Given the description of an element on the screen output the (x, y) to click on. 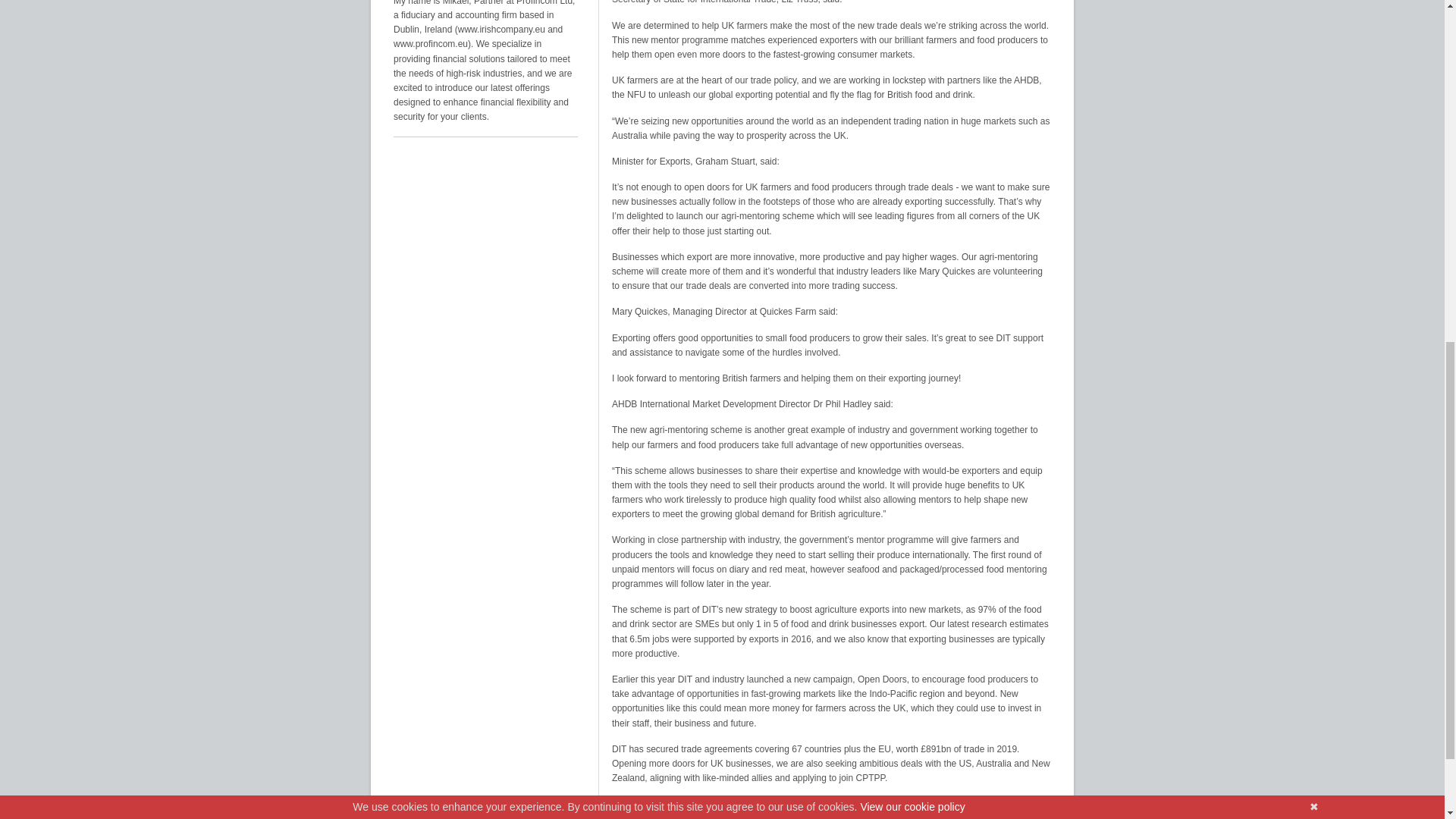
View our cookie policy (911, 158)
gov.uk (624, 803)
